Given the description of an element on the screen output the (x, y) to click on. 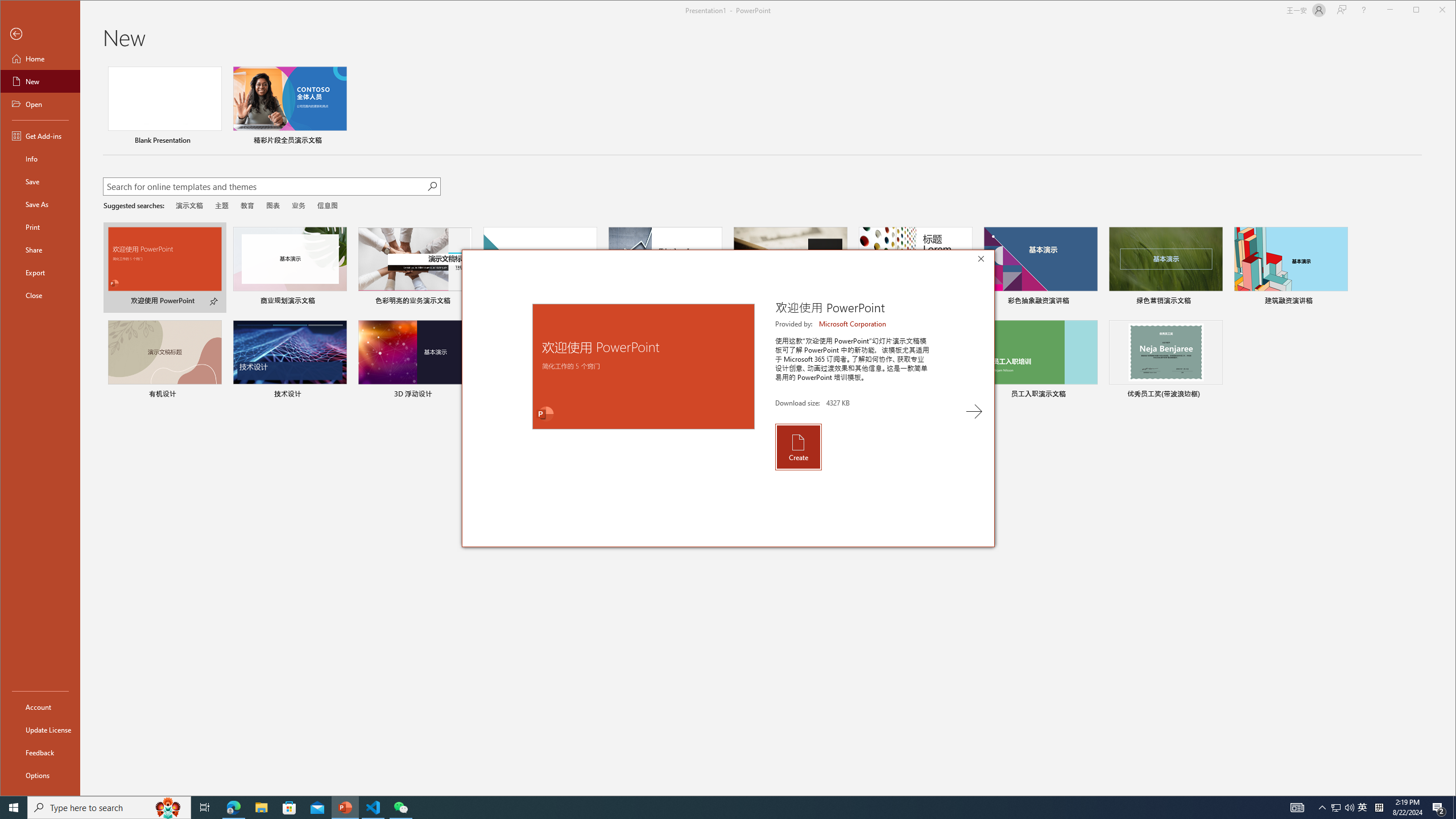
Search for online templates and themes (264, 187)
Pin to list (1215, 395)
WeChat - 1 running window (400, 807)
Feedback (40, 752)
Maximize (1432, 11)
Create (797, 446)
